Given the description of an element on the screen output the (x, y) to click on. 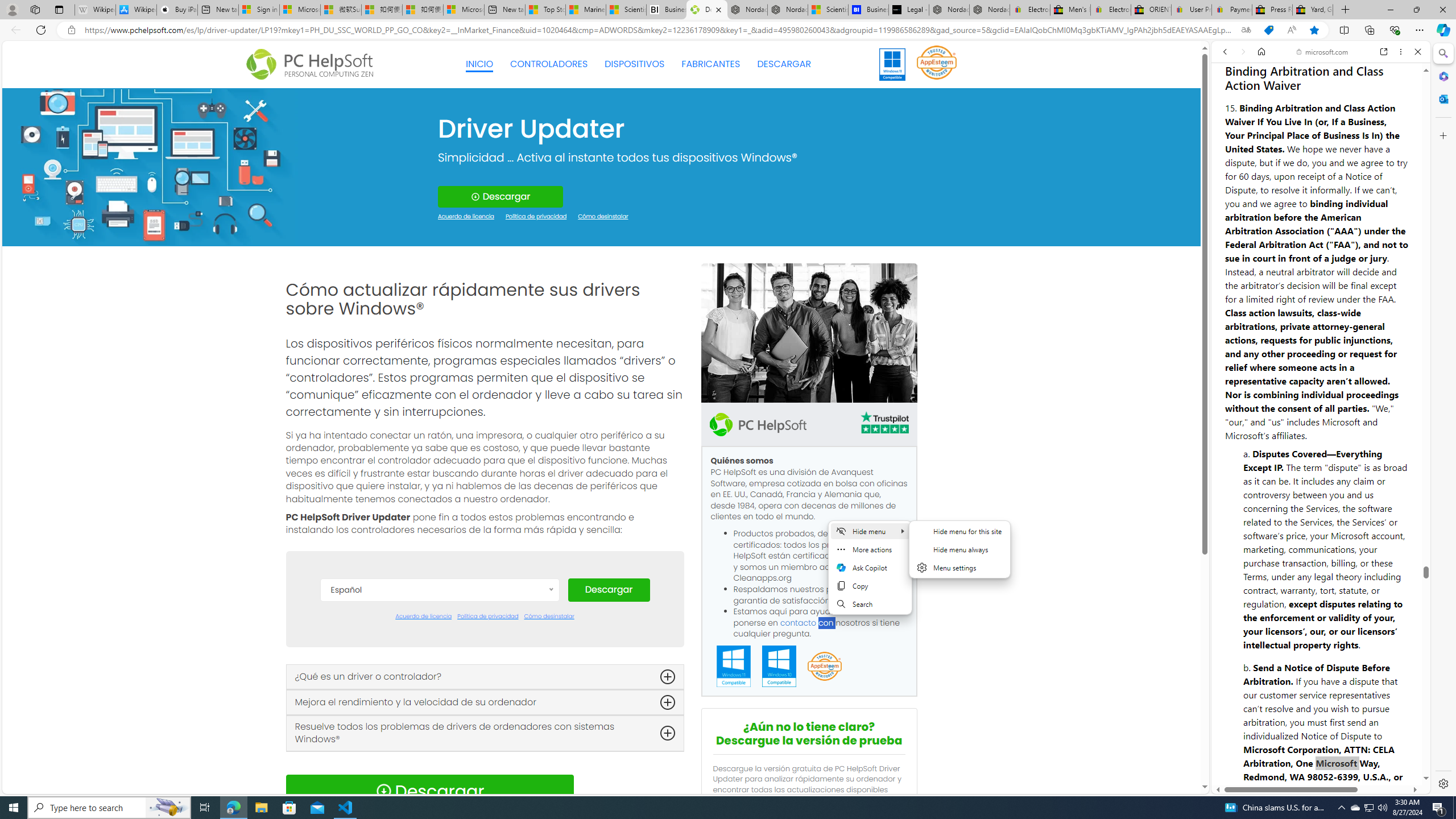
DESCARGAR (783, 64)
microsoft.com (1323, 51)
INICIO (479, 64)
Show translate options (1245, 29)
Windows 11 Compatible (733, 666)
DISPOSITIVOS (634, 64)
Minimize Search pane (1442, 53)
Search the web (1326, 78)
Payments Terms of Use | eBay.com (1231, 9)
Web scope (1230, 102)
Generic (150, 166)
